Given the description of an element on the screen output the (x, y) to click on. 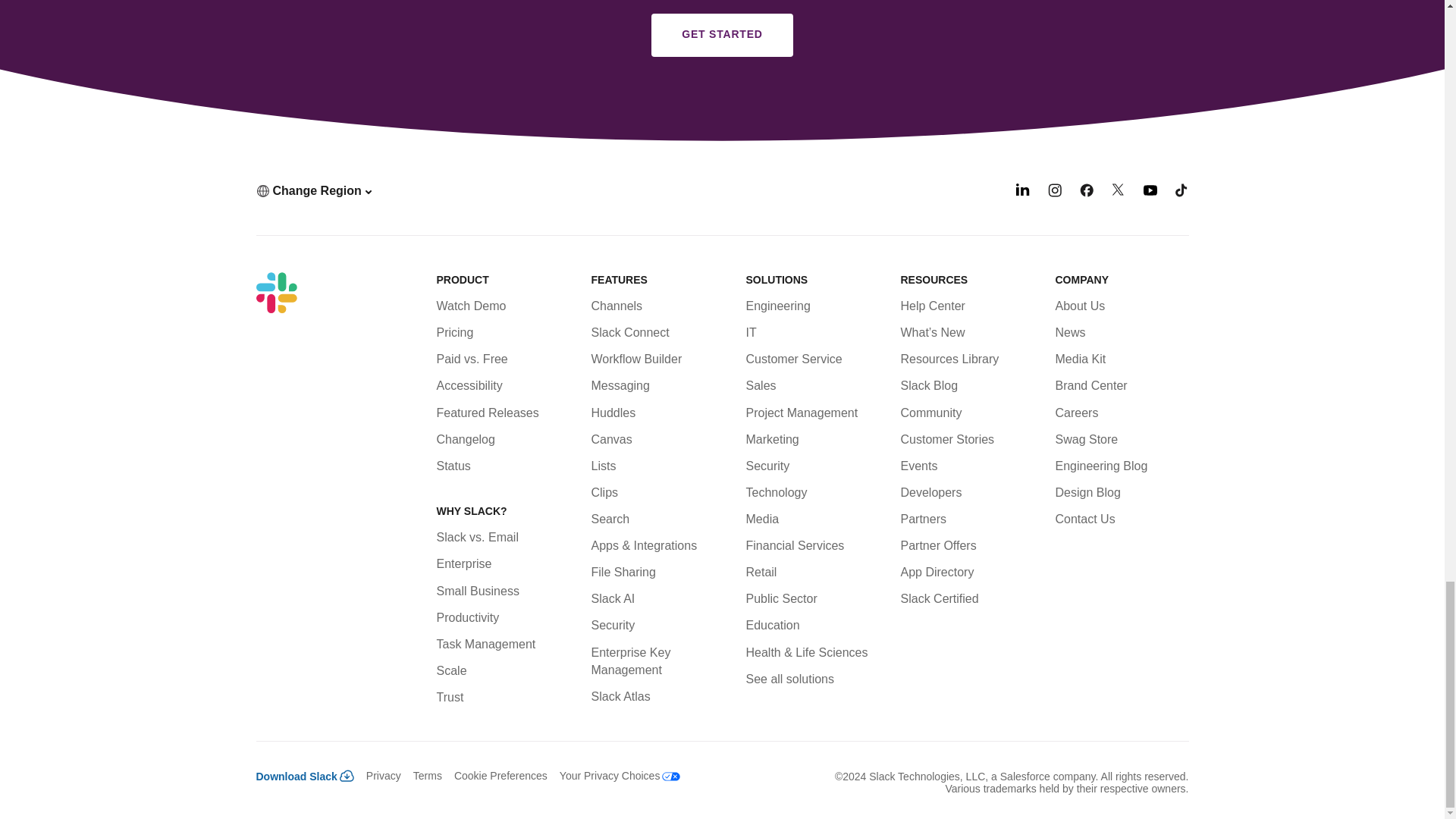
Your Privacy Choices (614, 775)
Facebook (1086, 192)
YouTube (1149, 192)
Instagram (1054, 192)
Slack (276, 291)
X (1118, 192)
TikTok (1181, 192)
LinkedIn (1022, 192)
